Given the description of an element on the screen output the (x, y) to click on. 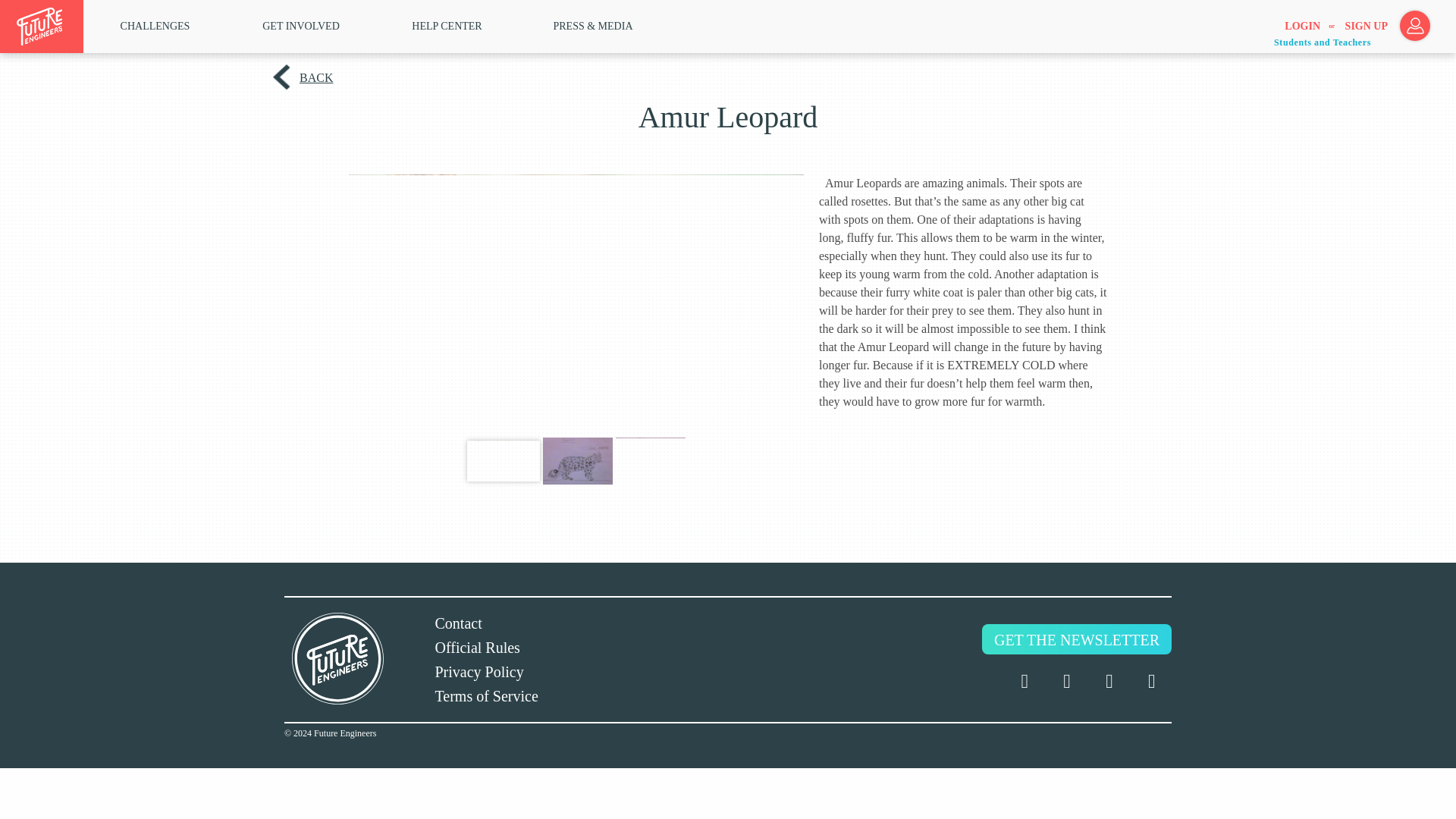
Follow us on Twitter (1024, 681)
Follow us on Facebook (1066, 681)
Follow us on Youtube (1152, 681)
Back (314, 77)
LOGIN (1302, 26)
Follow us on Instagram (1109, 681)
SIGN UP (1366, 26)
HELP CENTER (446, 25)
CHALLENGES (155, 25)
